Given the description of an element on the screen output the (x, y) to click on. 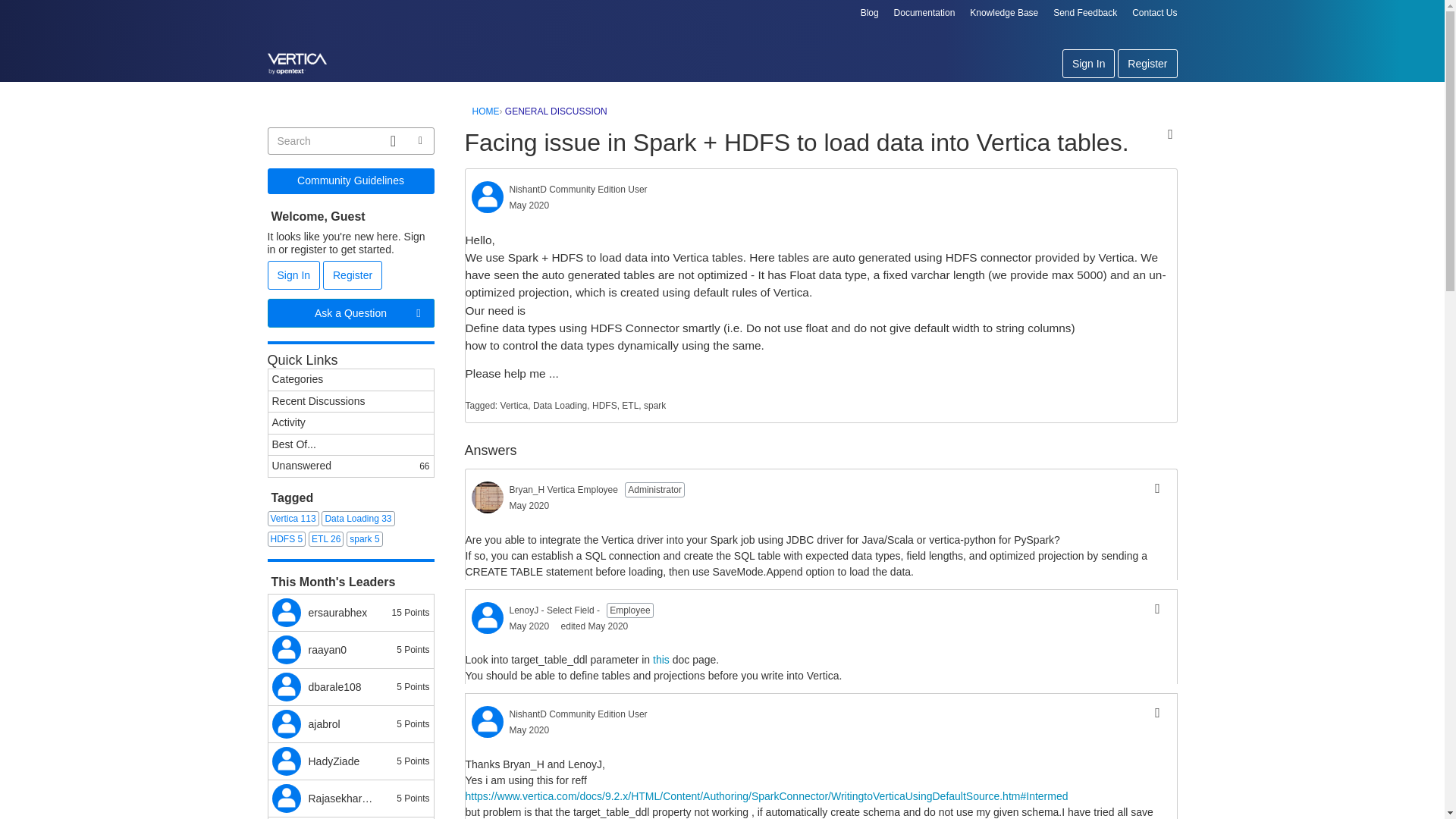
GENERAL DISCUSSION (556, 111)
Vertica (514, 405)
May 2020 (529, 625)
Sign In (1088, 63)
May 7, 2020 10:47AM (529, 204)
spark (654, 405)
Data Loading (559, 405)
HDFS (604, 405)
May 2020 (529, 505)
ETL (630, 405)
Send Feedback (1084, 12)
May 7, 2020 11:43AM (529, 505)
NishantD (487, 196)
Blog (869, 12)
this (660, 659)
